Given the description of an element on the screen output the (x, y) to click on. 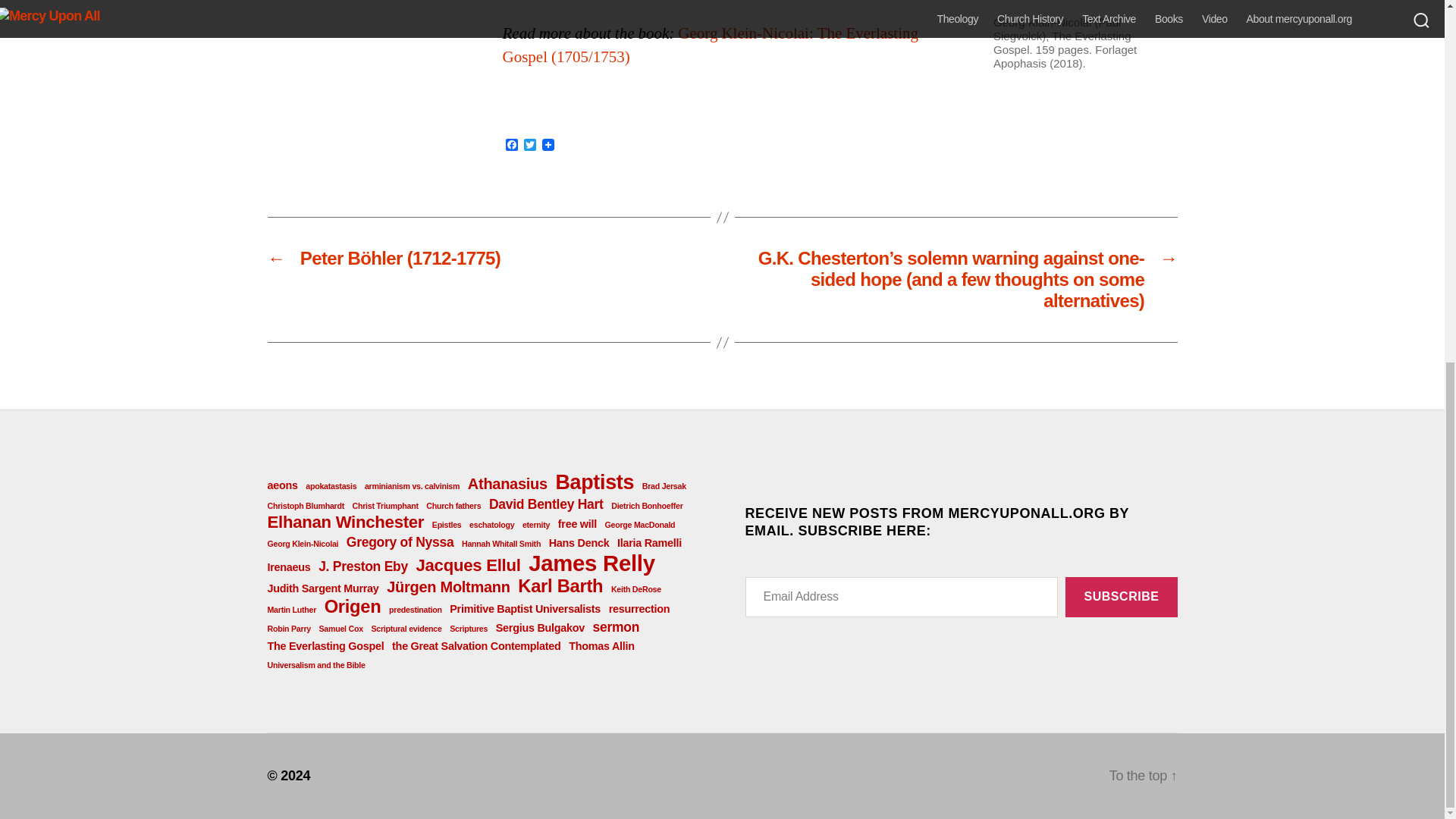
apokatastasis (330, 485)
Brad Jersak (663, 485)
Christoph Blumhardt (304, 505)
Christ Triumphant (385, 505)
Twitter (528, 145)
Twitter (528, 145)
Athanasius (507, 483)
aeons (281, 485)
Baptists (593, 481)
Facebook (510, 145)
